Given the description of an element on the screen output the (x, y) to click on. 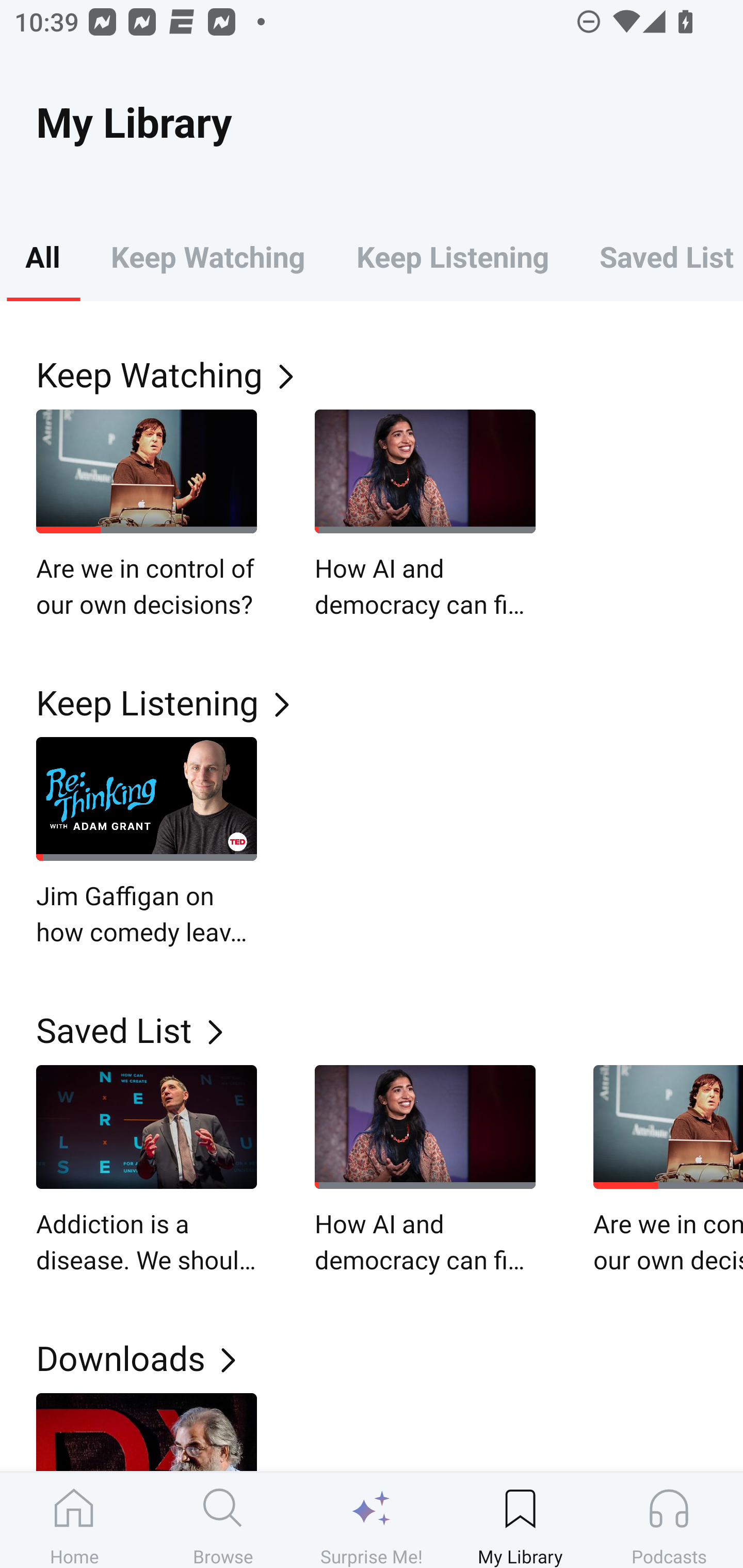
All (42, 256)
Keep Watching (207, 256)
Keep Listening (452, 256)
Saved List (658, 256)
Keep Watching (389, 373)
Are we in control of our own decisions? (146, 514)
How AI and democracy can fix each other (425, 514)
Keep Listening (389, 702)
Jim Gaffigan on how comedy leaves an aftertaste (146, 843)
Saved List (389, 1029)
How AI and democracy can fix each other (425, 1170)
Are we in control of our own decisions? (668, 1170)
Downloads (389, 1357)
Home (74, 1520)
Browse (222, 1520)
Surprise Me! (371, 1520)
My Library (519, 1520)
Podcasts (668, 1520)
